Given the description of an element on the screen output the (x, y) to click on. 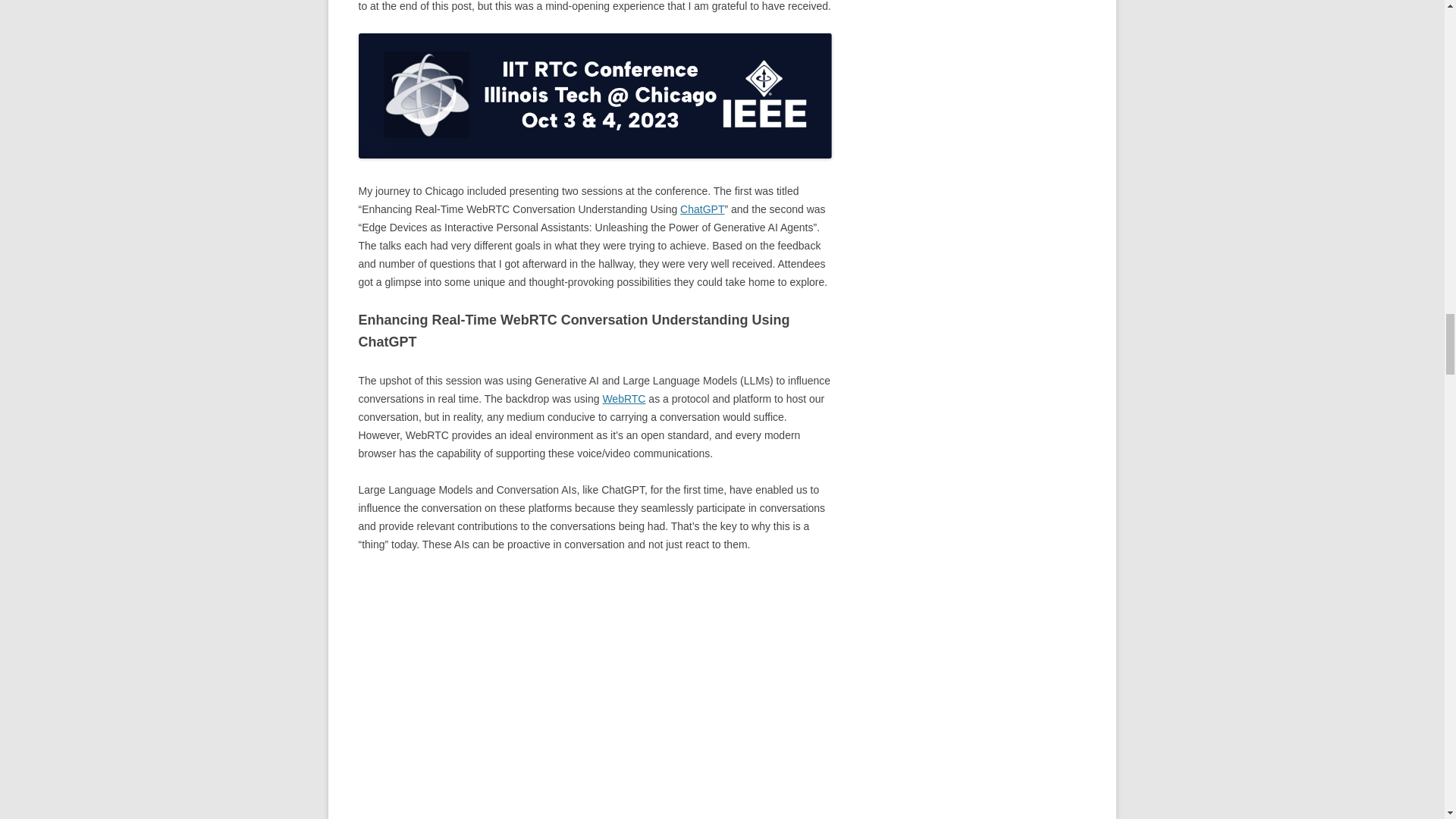
ChatGPT (701, 209)
YouTube video player (570, 690)
WebRTC (623, 398)
